Given the description of an element on the screen output the (x, y) to click on. 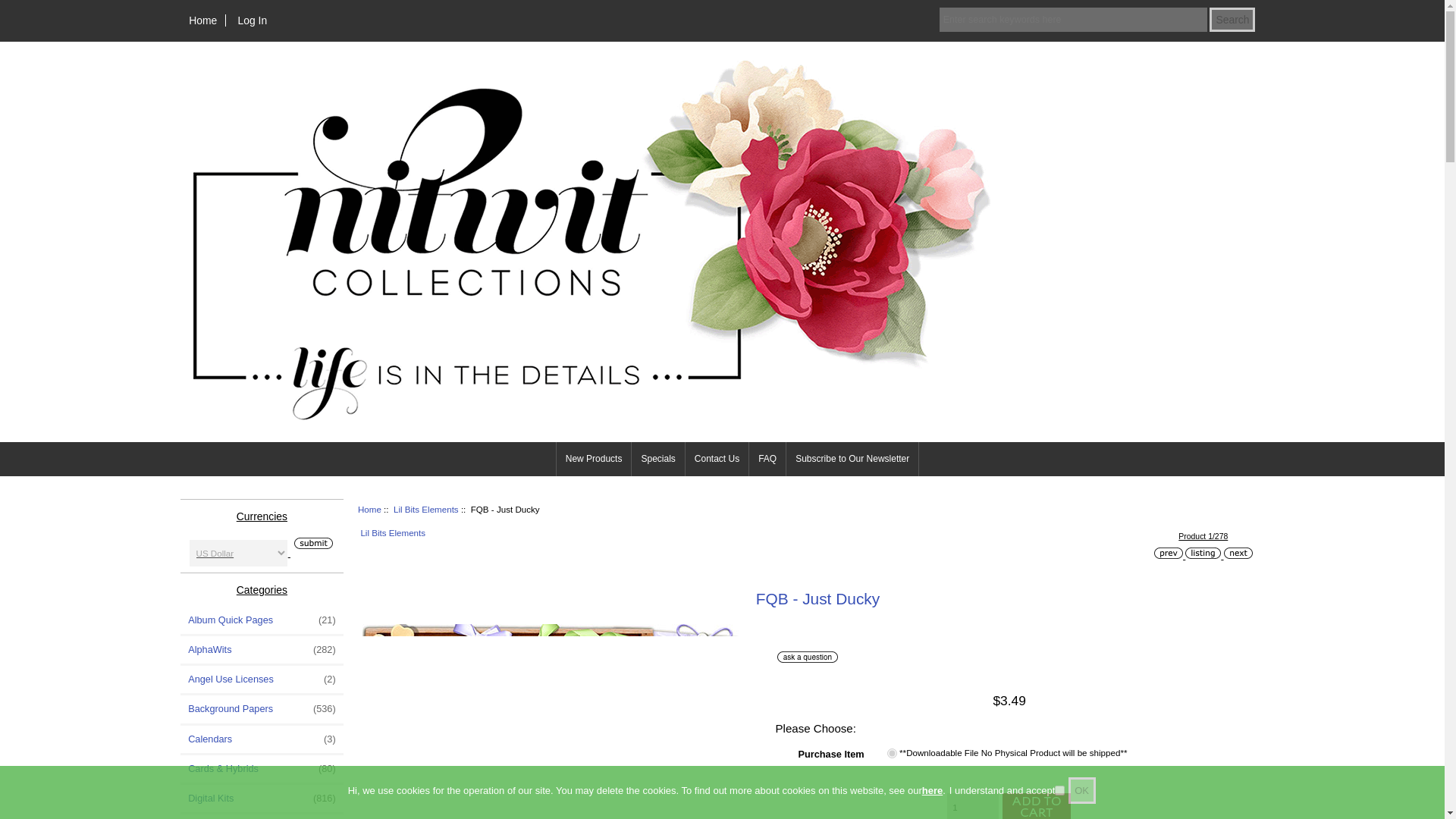
Add to Cart (1034, 806)
Subscribe to Our Newsletter (852, 458)
Return to the Product List (1203, 552)
Log In (251, 20)
Previous (1168, 552)
Next (1238, 552)
Contact Us (716, 458)
Search (1232, 19)
Home (202, 20)
Ask a Question (807, 656)
FAQ (767, 458)
Specials (657, 458)
Go (311, 542)
1 (891, 753)
